Given the description of an element on the screen output the (x, y) to click on. 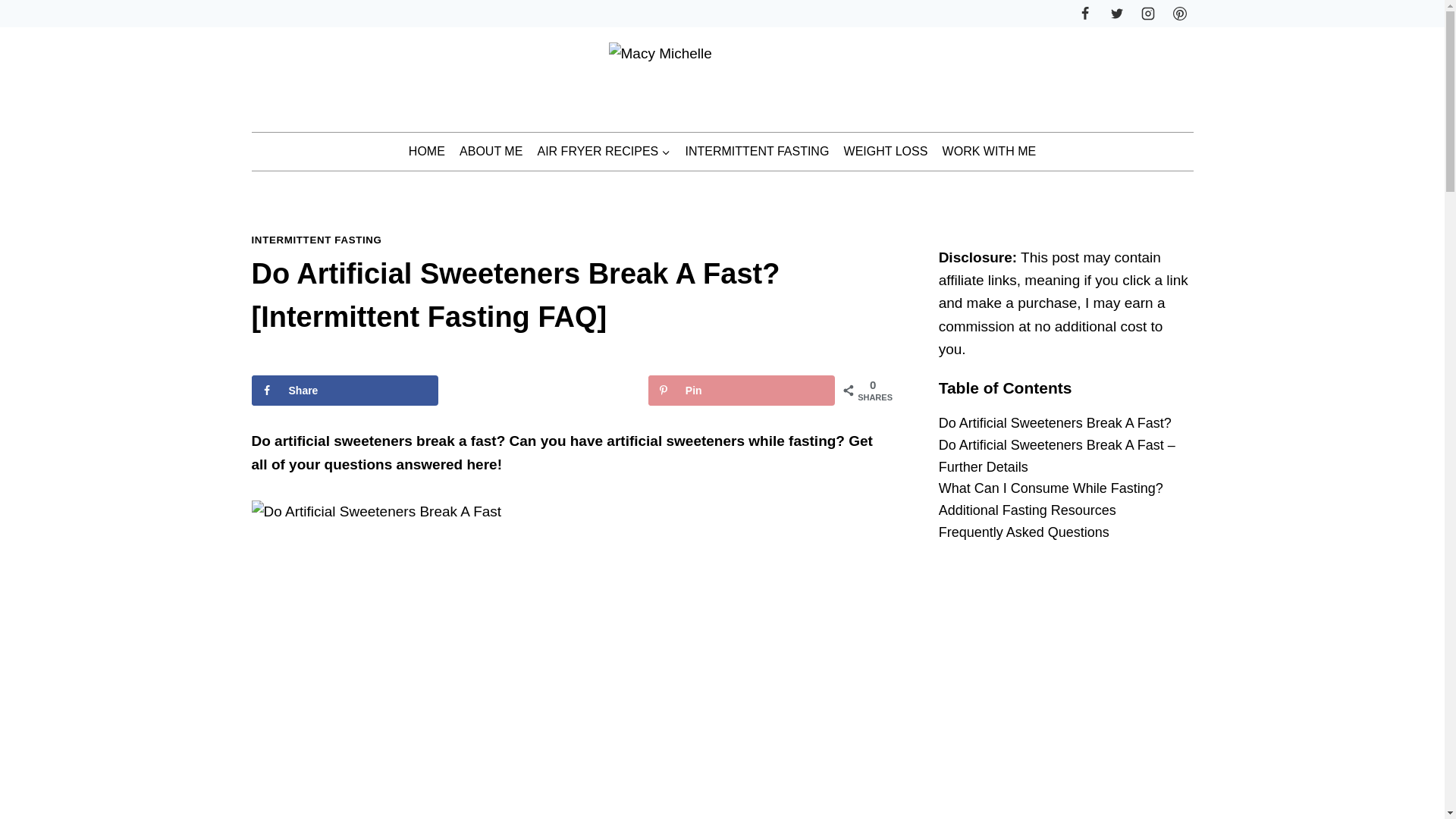
AIR FRYER RECIPES (603, 151)
Share on Facebook (344, 390)
WORK WITH ME (988, 151)
WEIGHT LOSS (884, 151)
Share on X (542, 390)
INTERMITTENT FASTING (756, 151)
Pin (740, 390)
ABOUT ME (490, 151)
HOME (426, 151)
